Given the description of an element on the screen output the (x, y) to click on. 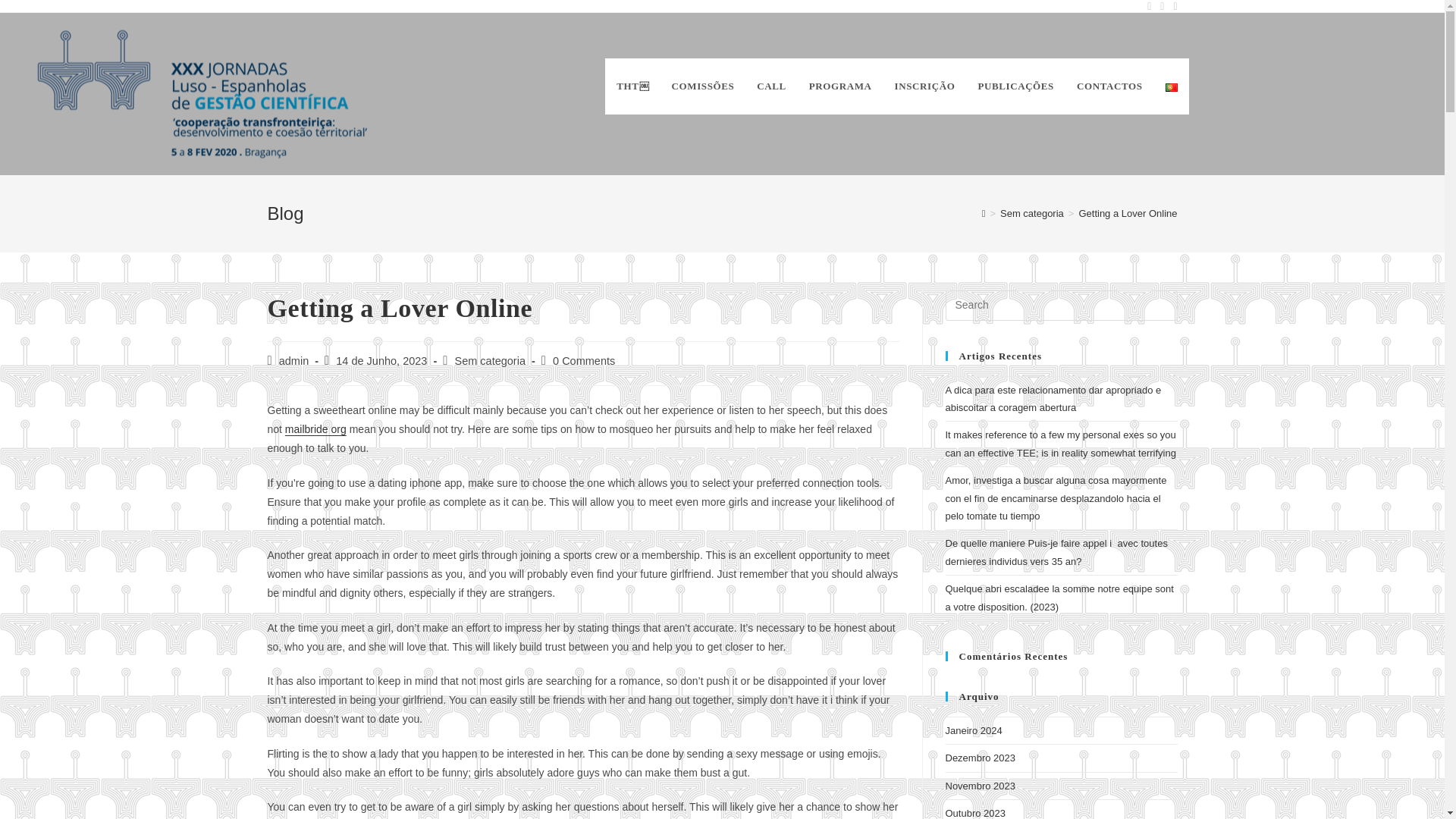
Sem categoria (1032, 213)
CALL (771, 86)
admin (293, 360)
Getting a Lover Online (1127, 213)
0 Comments (583, 360)
mailbride org (315, 428)
PROGRAMA (840, 86)
CONTACTOS (1109, 86)
Sem categoria (489, 360)
Artigos de admin (293, 360)
